Given the description of an element on the screen output the (x, y) to click on. 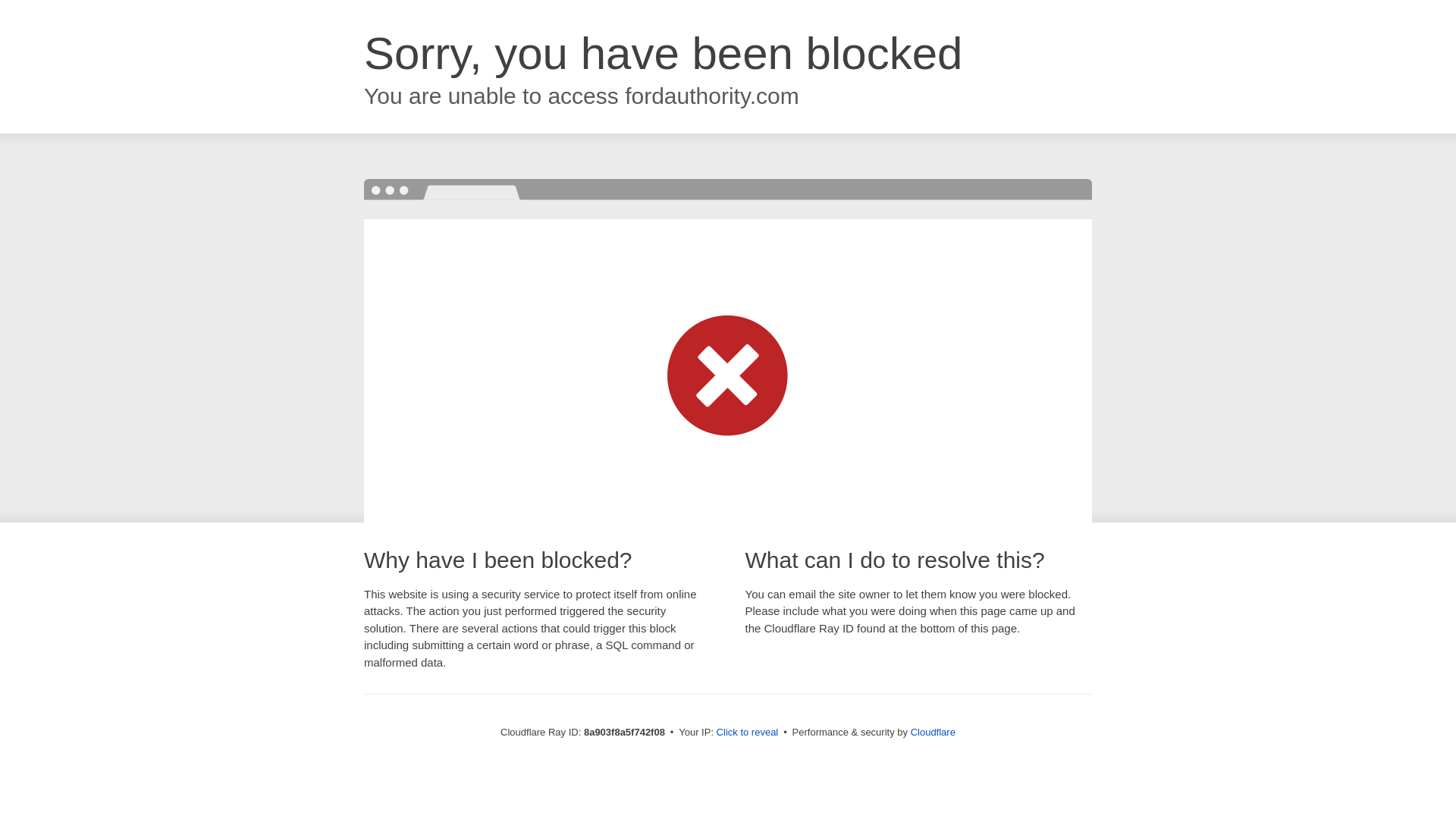
Cloudflare (933, 731)
Click to reveal (747, 732)
